Given the description of an element on the screen output the (x, y) to click on. 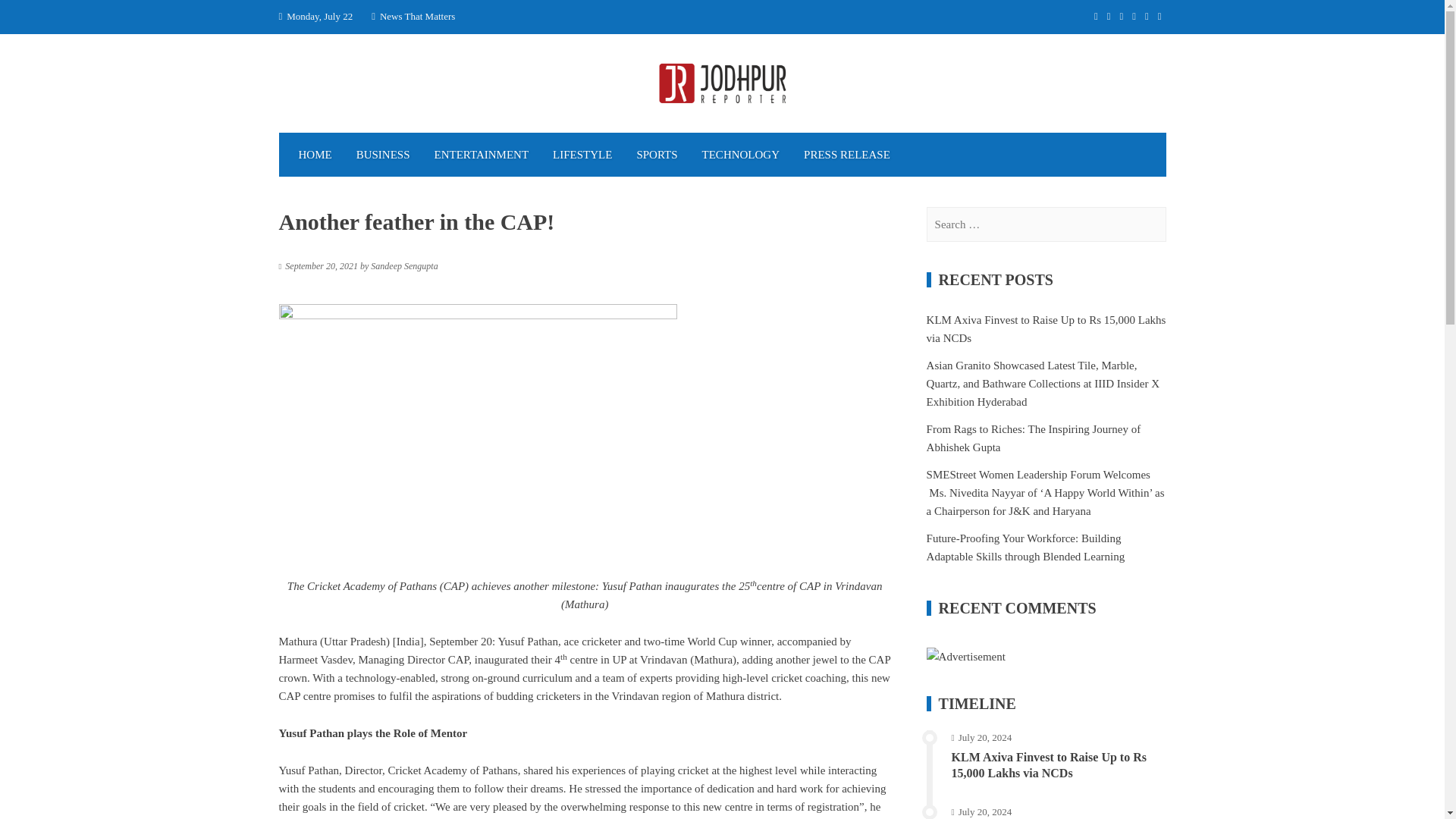
From Rags to Riches: The Inspiring Journey of Abhishek Gupta (1033, 438)
Search (30, 16)
BUSINESS (382, 154)
KLM Axiva Finvest to Raise Up to Rs 15,000 Lakhs via NCDs (1046, 328)
SPORTS (656, 154)
LIFESTYLE (582, 154)
PRESS RELEASE (847, 154)
KLM Axiva Finvest to Raise Up to Rs 15,000 Lakhs via NCDs (1049, 765)
TECHNOLOGY (741, 154)
ENTERTAINMENT (481, 154)
HOME (314, 154)
